Given the description of an element on the screen output the (x, y) to click on. 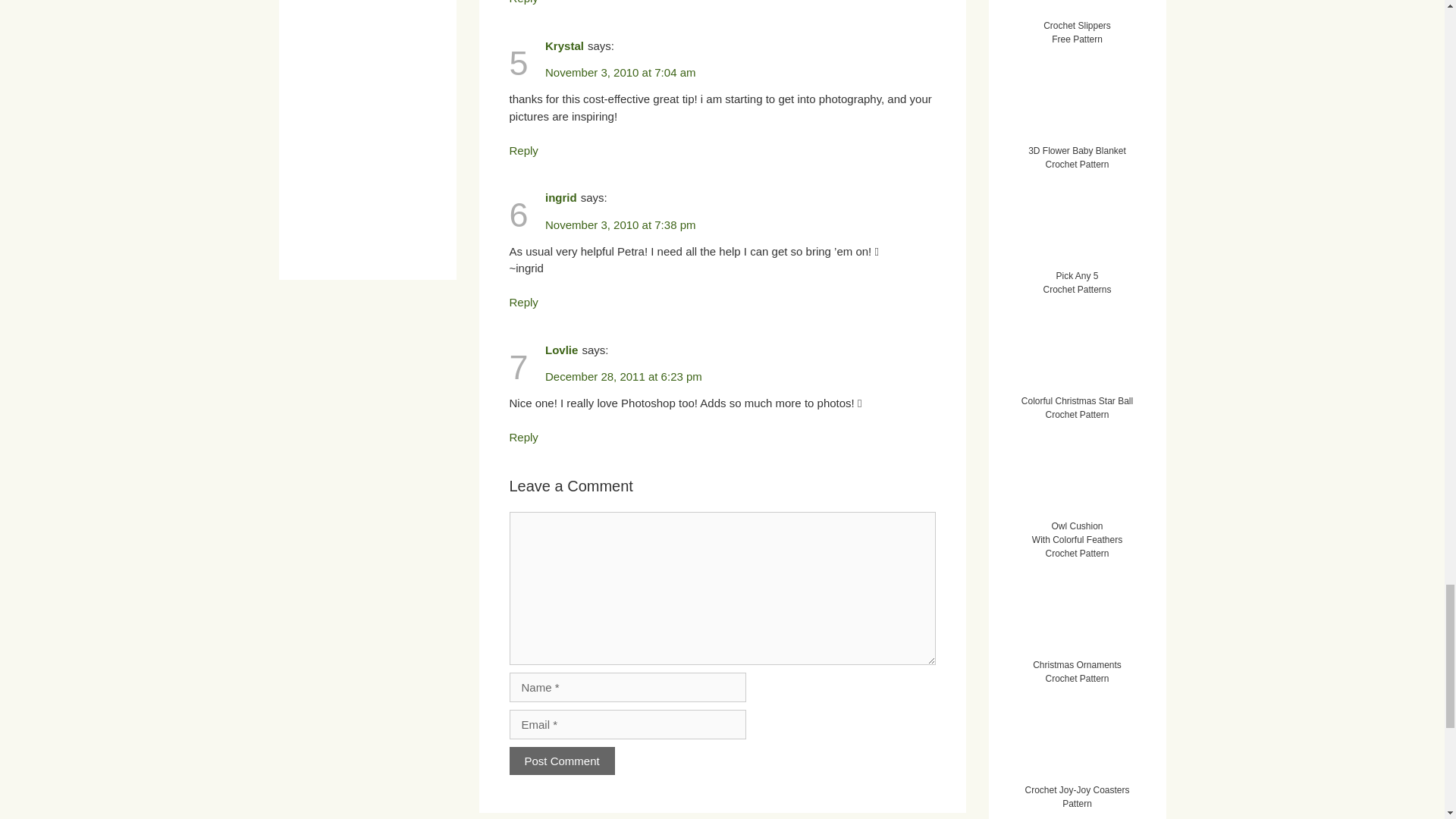
Post Comment (561, 760)
